Given the description of an element on the screen output the (x, y) to click on. 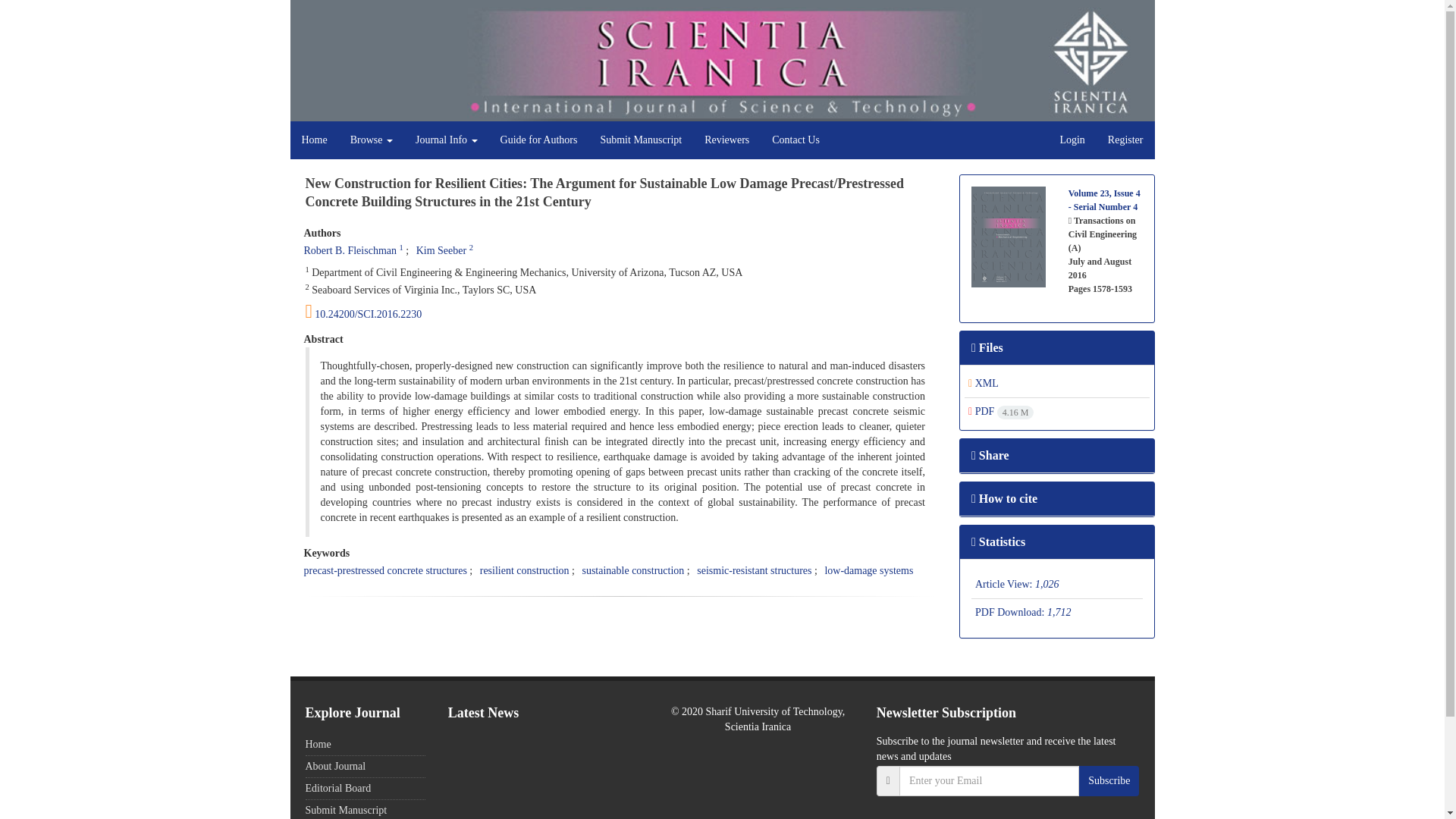
Browse (371, 139)
precast-prestressed concrete structures (383, 570)
Robert B. Fleischman (349, 250)
sustainable construction (632, 570)
Volume 23, Issue 4 - Serial Number 4 (1104, 200)
resilient construction (524, 570)
DOI (620, 311)
Login (1072, 139)
Home (313, 139)
Reviewers (726, 139)
seismic-resistant structures (753, 570)
Contact Us (795, 139)
Kim Seeber (440, 250)
Submit Manuscript (640, 139)
2 (470, 247)
